Given the description of an element on the screen output the (x, y) to click on. 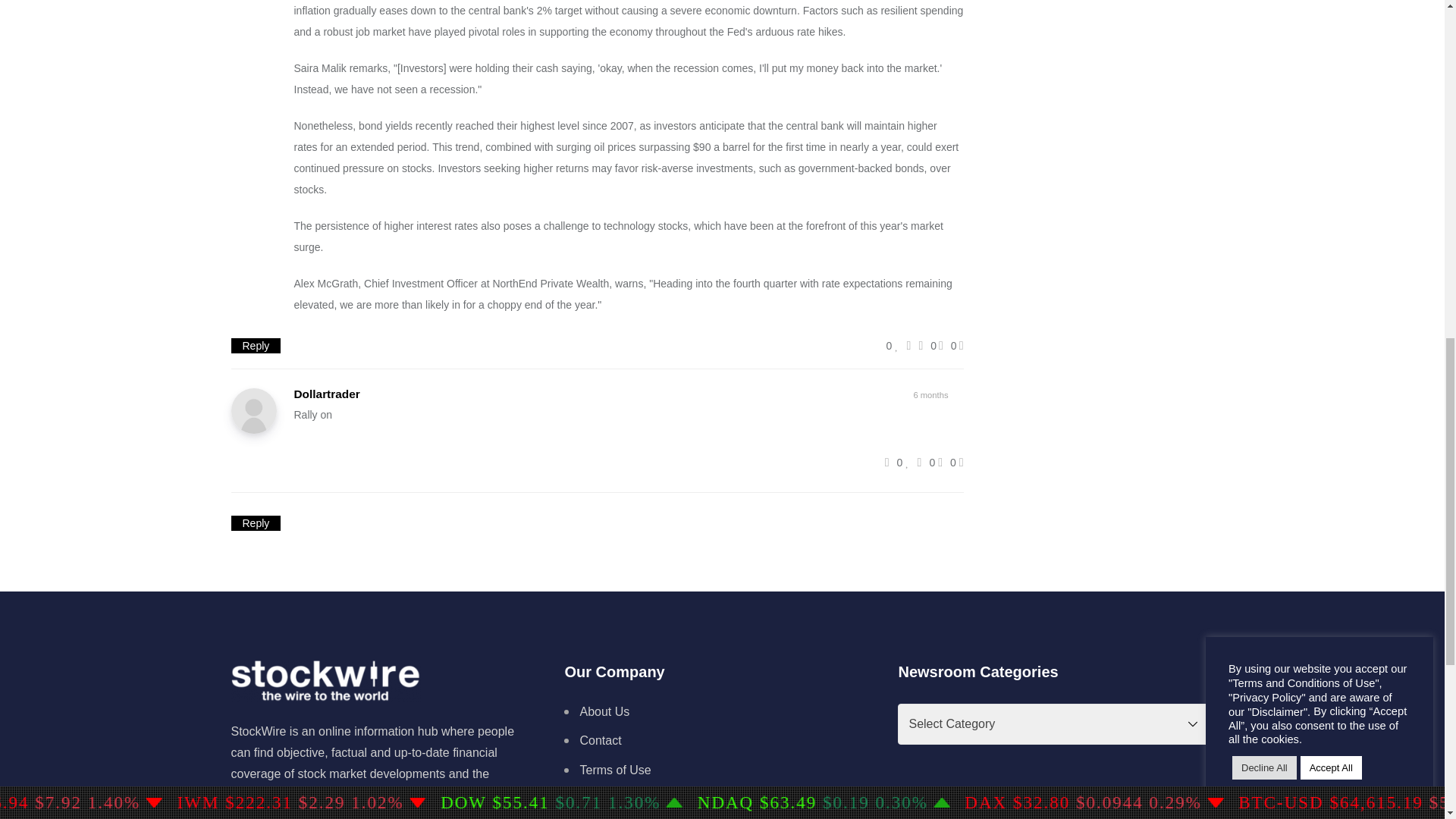
Dollartrader (326, 393)
Reply (255, 345)
Reply (255, 522)
Reply (255, 345)
